Given the description of an element on the screen output the (x, y) to click on. 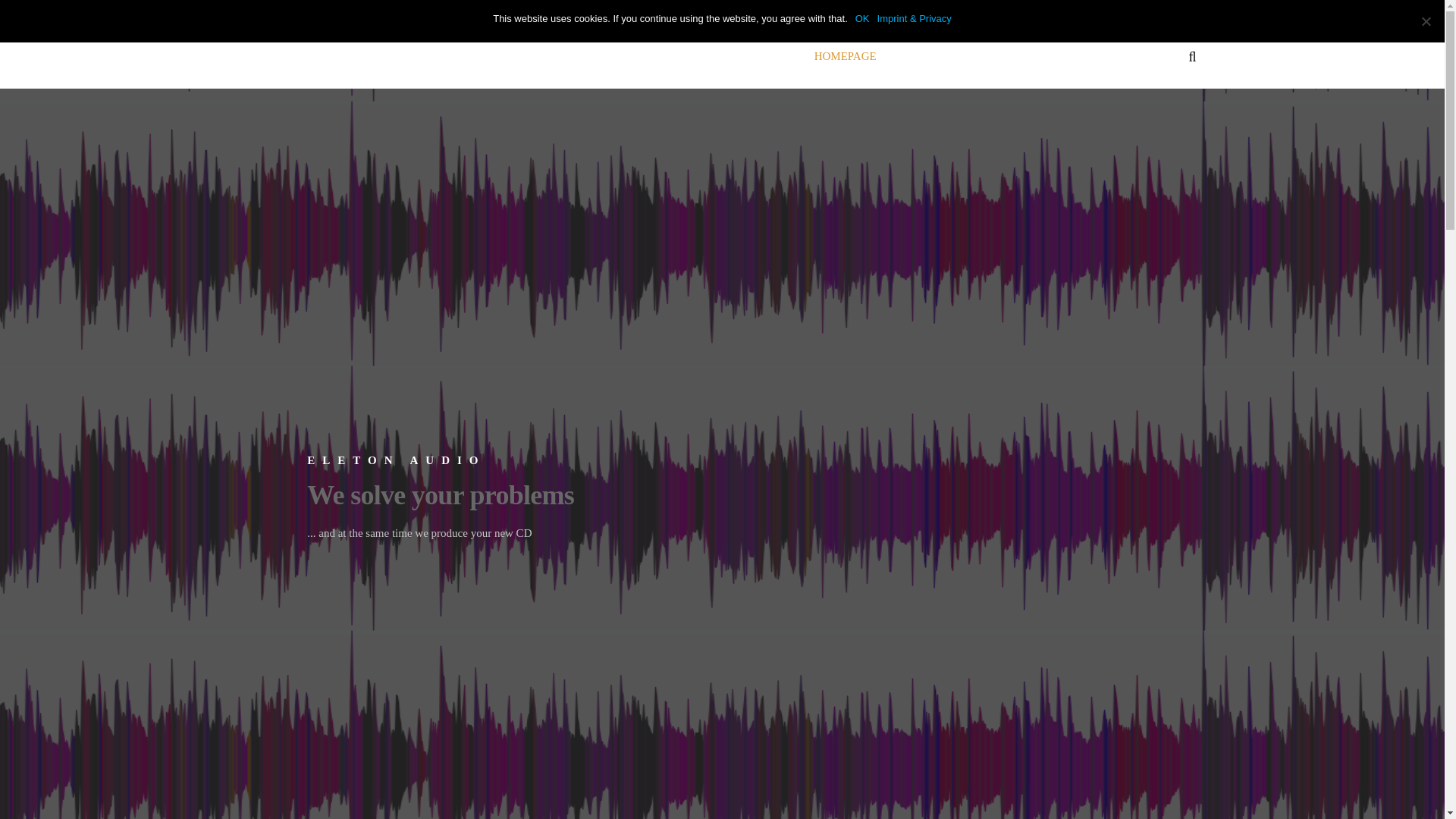
OK (862, 18)
PRODUCTS (927, 55)
Products (927, 55)
Freeware (1008, 55)
Eleton Audiotechnik (356, 55)
Deutsch (1146, 55)
FREEWARE (1008, 55)
DEUTSCH (1146, 55)
HOMEPAGE (844, 55)
CONTACT (1079, 55)
Contact (1079, 55)
Homepage (844, 55)
